Given the description of an element on the screen output the (x, y) to click on. 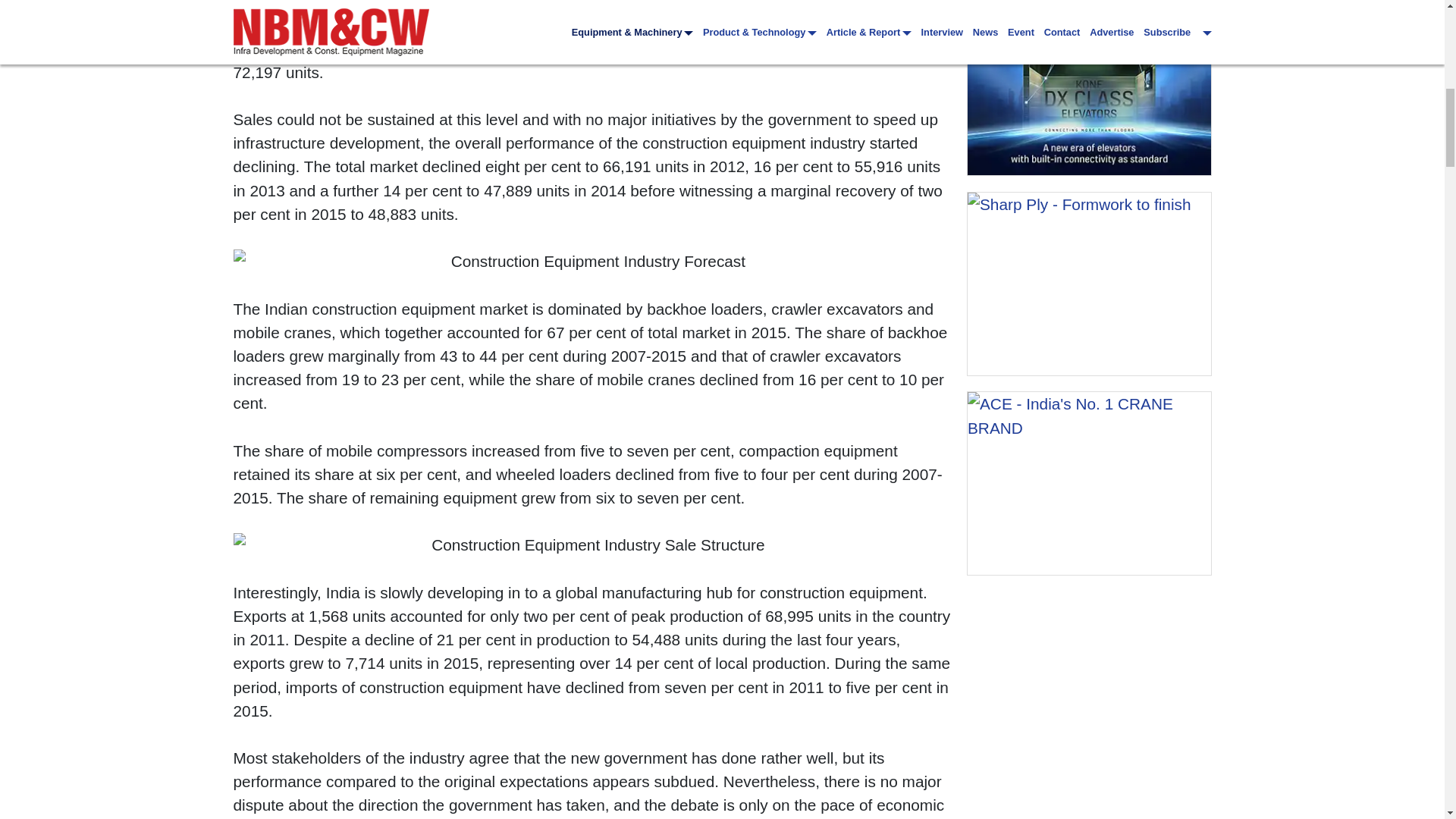
Kone - DX Class Elevator (1089, 88)
